Given the description of an element on the screen output the (x, y) to click on. 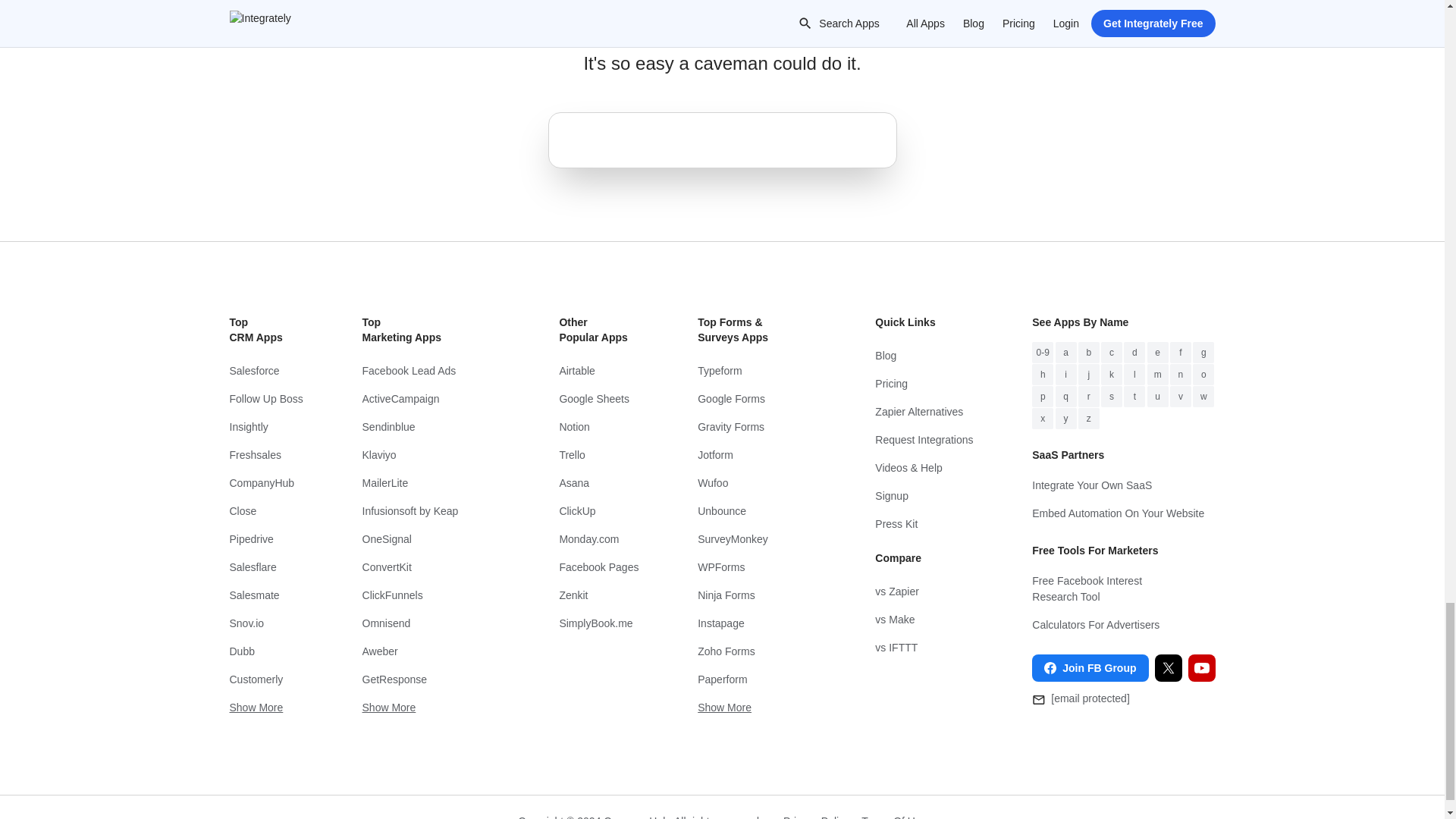
Insightly (265, 427)
ClickFunnels (431, 595)
Freshsales (265, 455)
MailerLite (431, 483)
Salesforce (265, 370)
ActiveCampaign (431, 398)
Salesflare (265, 567)
Facebook Lead Ads (431, 370)
Close (265, 511)
Dubb (265, 651)
CompanyHub (265, 483)
Snov.io (265, 623)
Sendinblue (431, 427)
Customerly (265, 679)
GetResponse (431, 679)
